Given the description of an element on the screen output the (x, y) to click on. 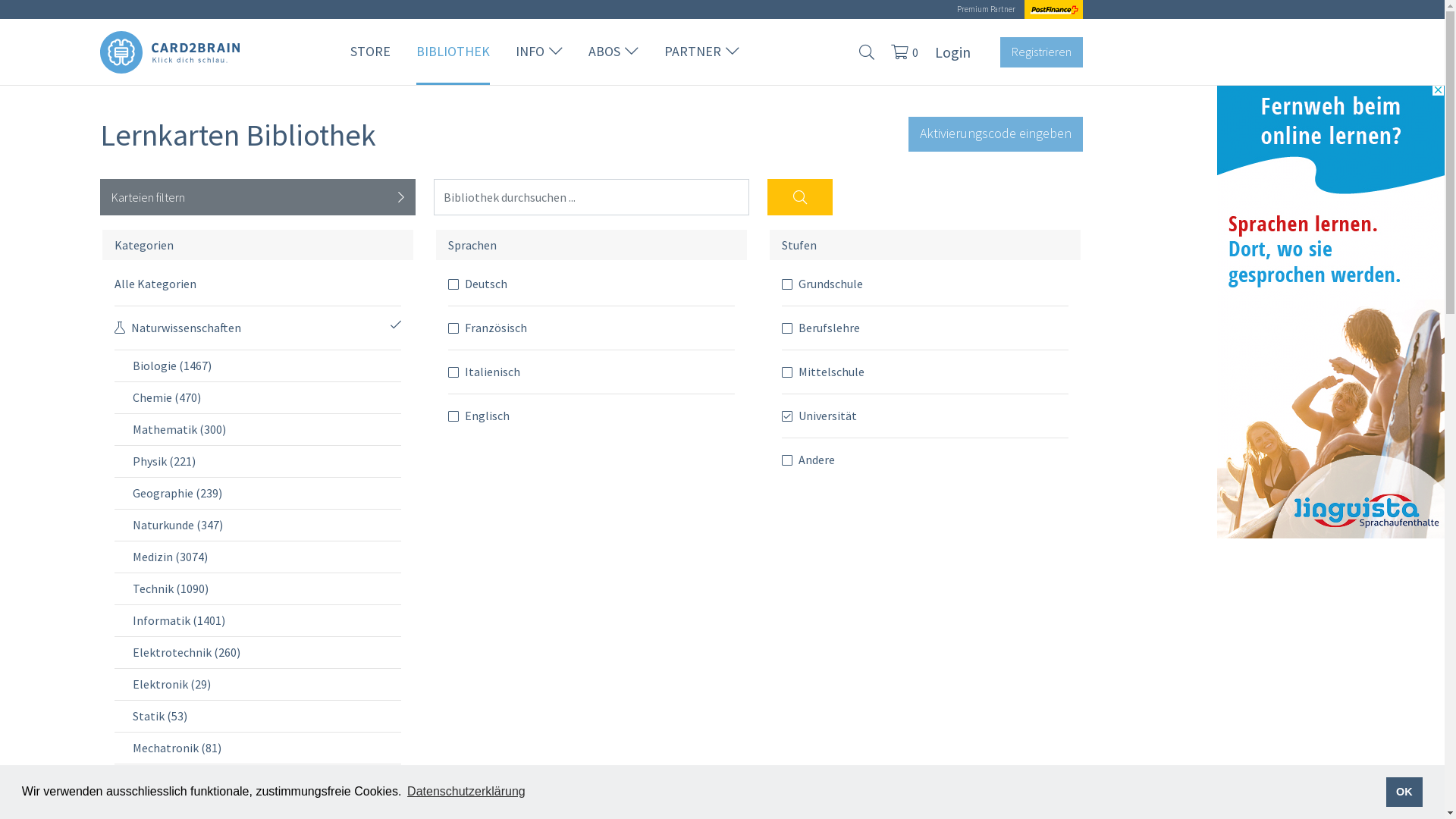
Chemie (470) Element type: text (266, 397)
Naturwissenschaften Element type: text (257, 327)
Statik (53) Element type: text (266, 715)
Grundschule Element type: text (924, 283)
BIBLIOTHEK Element type: text (452, 50)
Registrieren Element type: text (1041, 51)
Berufslehre Element type: text (924, 327)
Medizin (3074) Element type: text (266, 556)
Aktivierungscode eingeben Element type: text (995, 133)
Deutsch Element type: text (591, 283)
Italienisch Element type: text (591, 371)
OK Element type: text (1404, 791)
Mittelschule Element type: text (924, 371)
Alle Kategorien Element type: text (257, 283)
Informatik (1401) Element type: text (266, 620)
Biologie (1467) Element type: text (266, 365)
Mechatronik (81) Element type: text (266, 747)
Innenausbau (4) Element type: text (266, 779)
0 Element type: text (900, 51)
3rd party ad content Element type: hover (1330, 310)
Physik (221) Element type: text (266, 460)
Geographie (239) Element type: text (266, 492)
Technik (1090) Element type: text (266, 588)
Mathematik (300) Element type: text (266, 429)
Login Element type: text (952, 51)
Elektronik (29) Element type: text (266, 683)
Englisch Element type: text (591, 415)
Elektrotechnik (260) Element type: text (266, 652)
Andere Element type: text (924, 459)
Naturkunde (347) Element type: text (266, 524)
STORE Element type: text (370, 50)
